Given the description of an element on the screen output the (x, y) to click on. 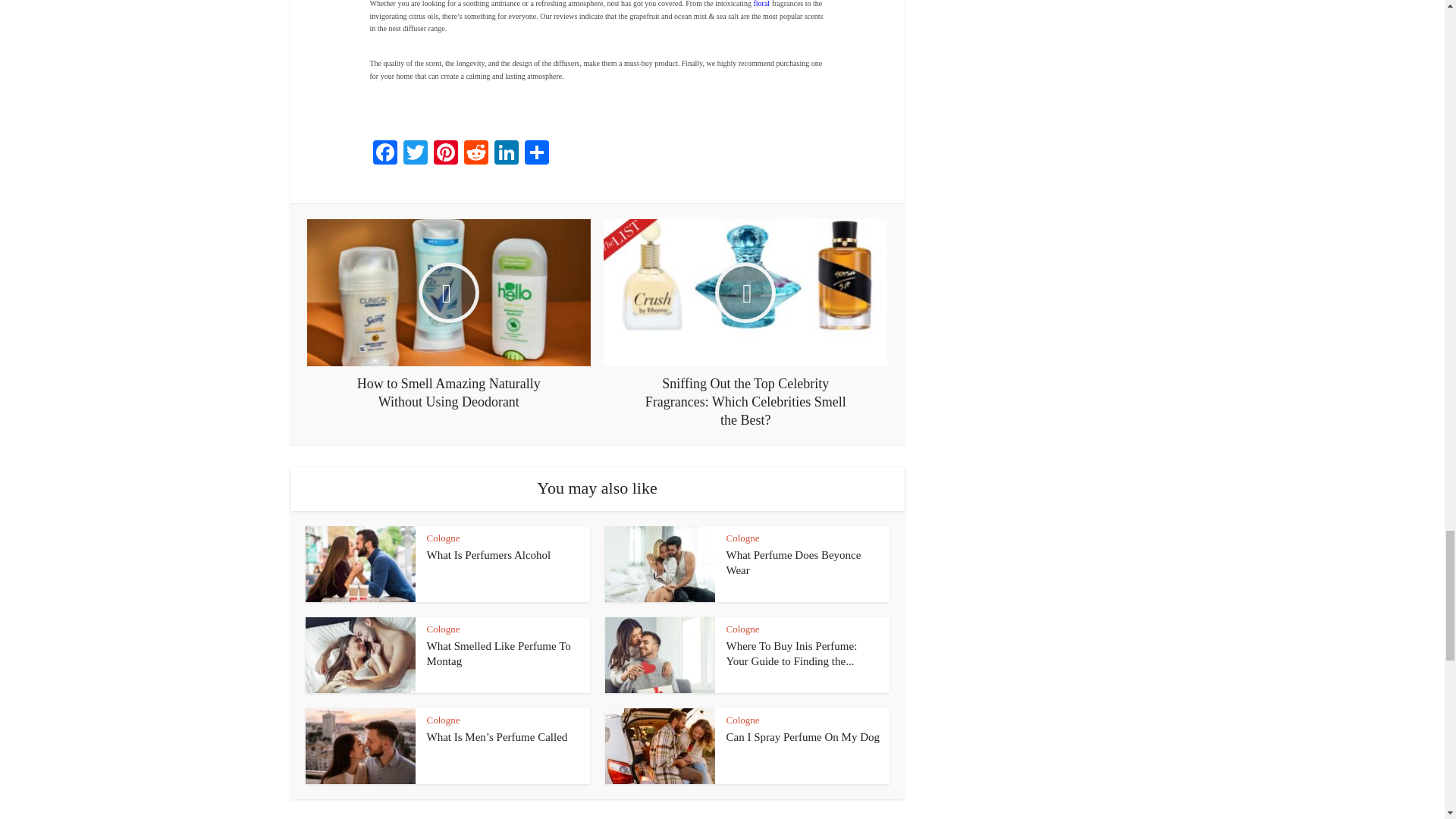
LinkedIn (506, 154)
Reddit (476, 154)
What Is Perfumers Alcohol 5 (359, 563)
Twitter (415, 154)
Pinterest (445, 154)
What Is Perfumers Alcohol (488, 554)
What Perfume Does Beyonce Wear (793, 562)
How to Smell Amazing Naturally Without Using Deodorant 3 (449, 292)
